Given the description of an element on the screen output the (x, y) to click on. 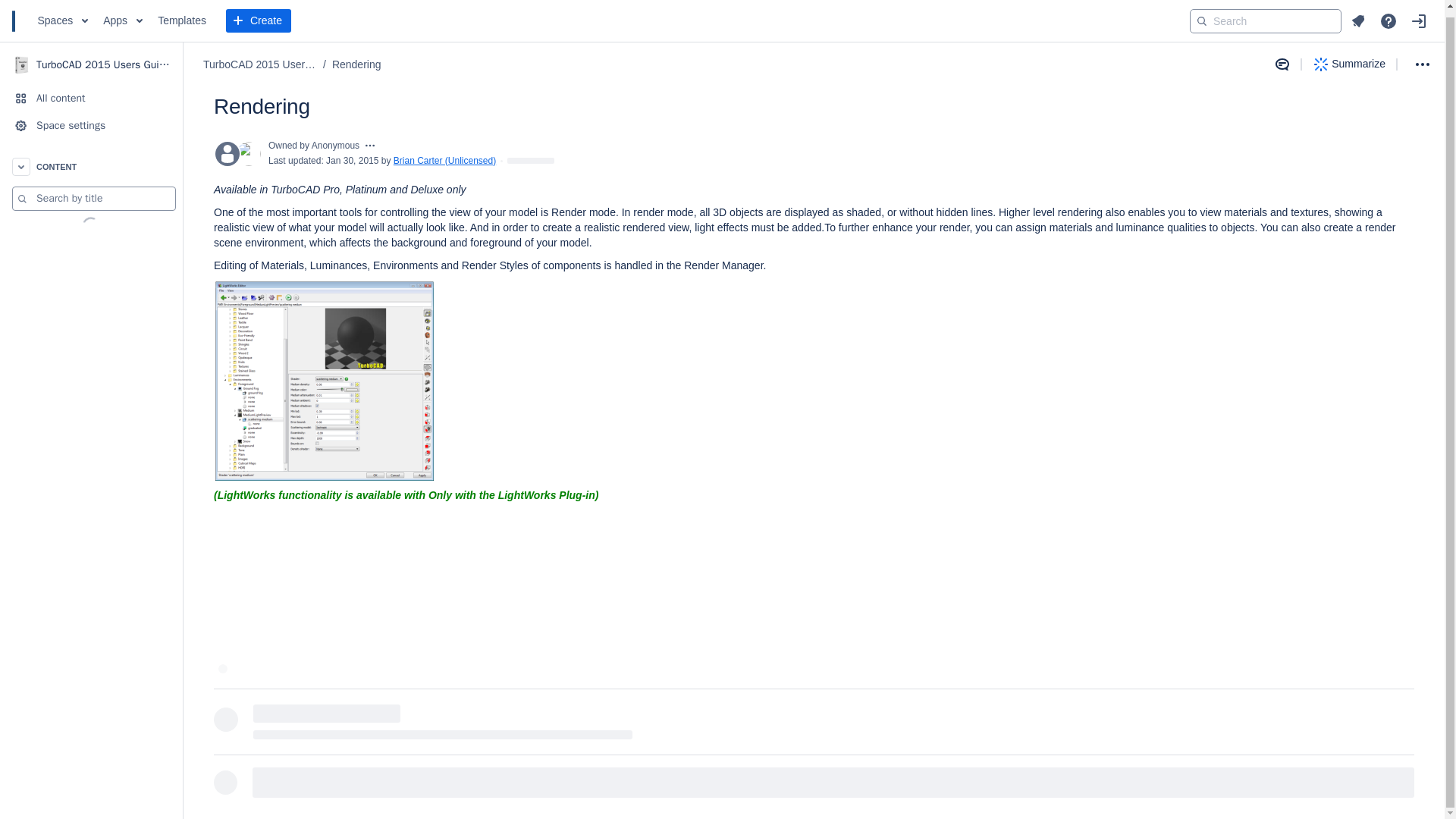
TurboCAD 2015 Users Guide (90, 59)
Create (258, 15)
All content (90, 92)
CONTENT (90, 160)
Space settings (90, 119)
Jan 30, 2015 (352, 160)
Spaces (63, 15)
TurboCAD 2015 Users Guide (260, 58)
Summarize (1349, 57)
Templates (181, 15)
